Given the description of an element on the screen output the (x, y) to click on. 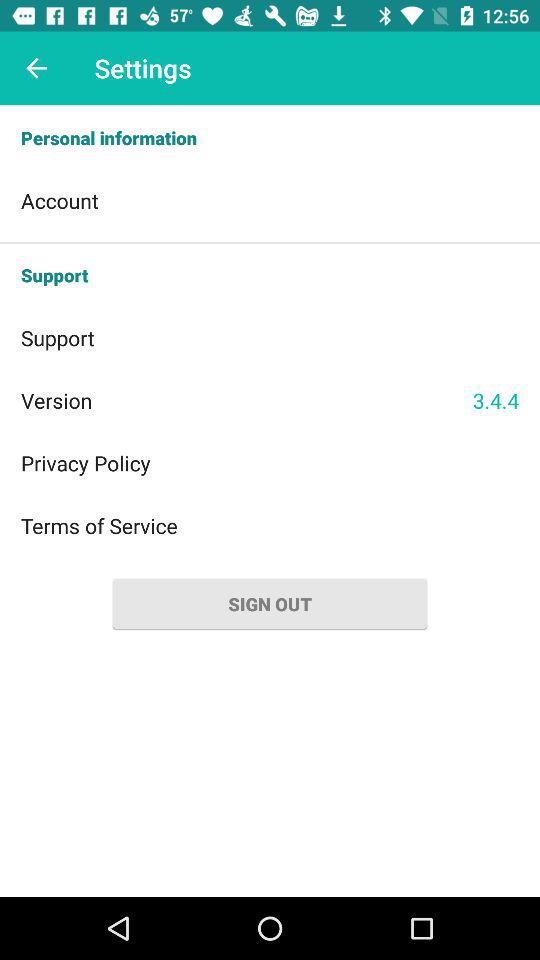
turn off icon next to the version item (495, 400)
